Given the description of an element on the screen output the (x, y) to click on. 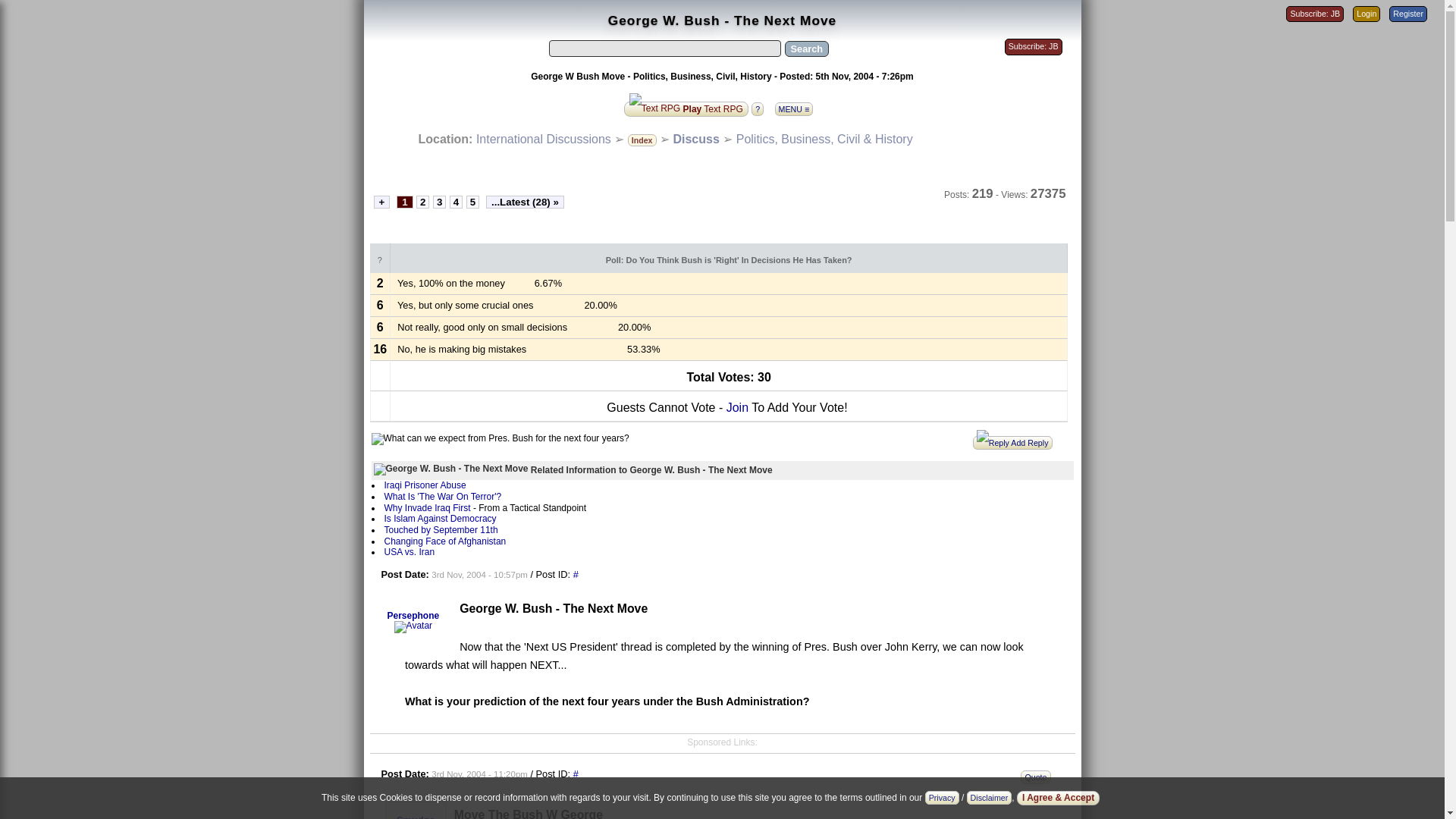
Index (641, 138)
? (761, 107)
2 (422, 201)
International Discussions (543, 138)
George W. Bush - The Next Move (449, 469)
Play Text RPG (686, 107)
Page: 28 (525, 201)
4 (456, 201)
Search (806, 48)
Home (543, 138)
